Given the description of an element on the screen output the (x, y) to click on. 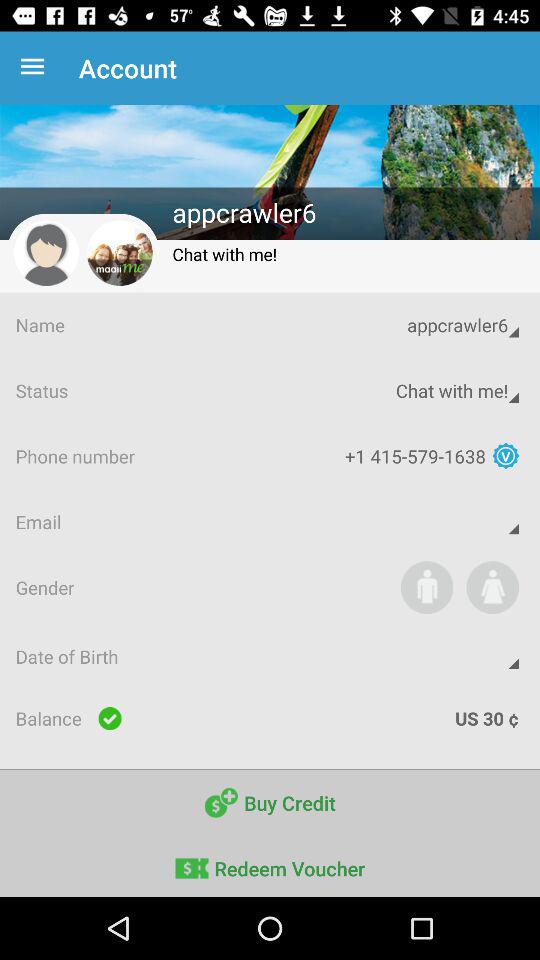
switch to select female (492, 587)
